Given the description of an element on the screen output the (x, y) to click on. 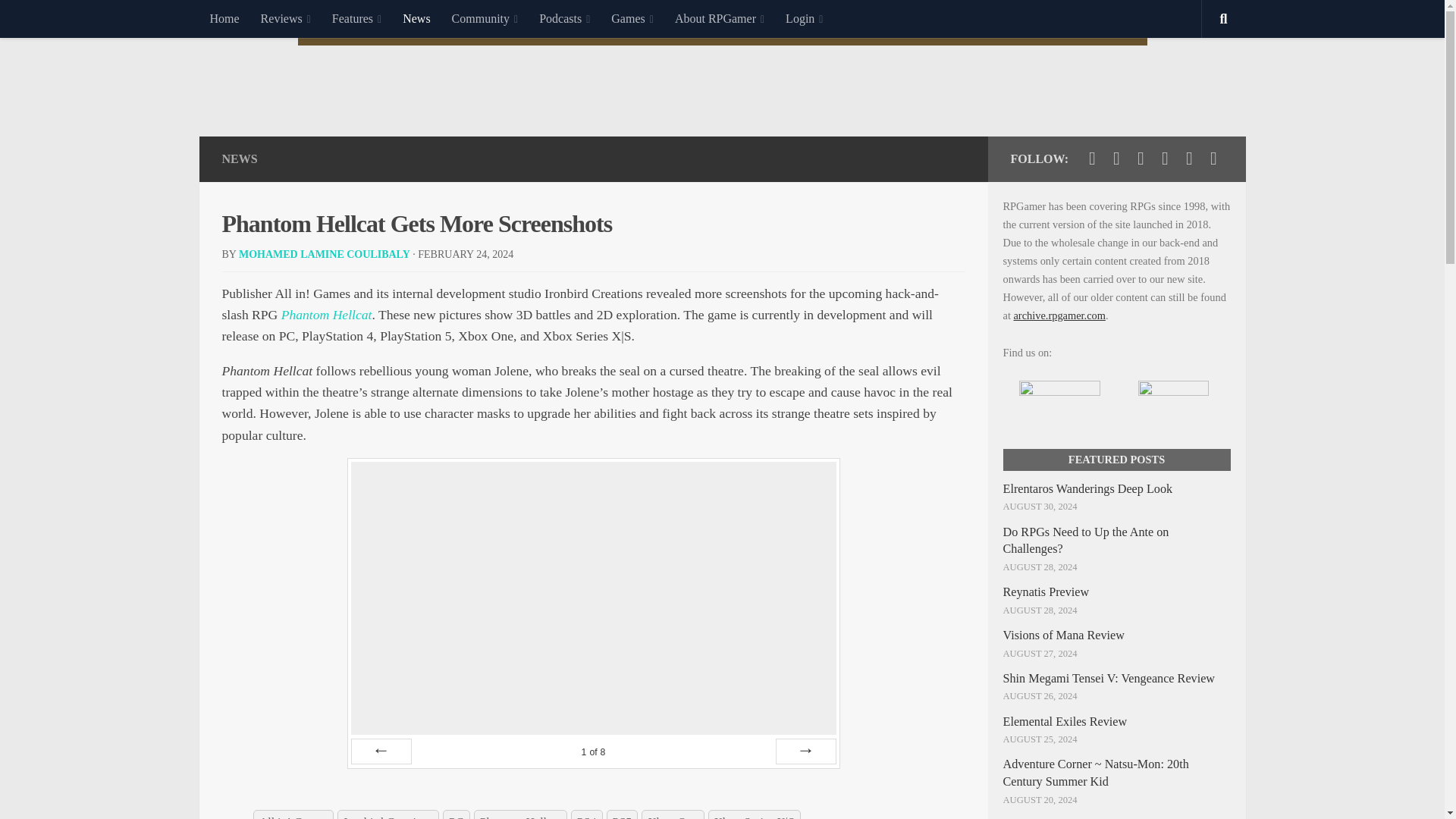
Follow us on Youtube (1140, 158)
Follow us on Facebook (1115, 158)
Follow us on Discord (1188, 158)
Follow us on Rss (1213, 158)
Follow us on Twitch (1164, 158)
Posts by Mohamed Lamine Coulibaly (324, 254)
Skip to content (59, 20)
Follow us on Twitter (1091, 158)
